Given the description of an element on the screen output the (x, y) to click on. 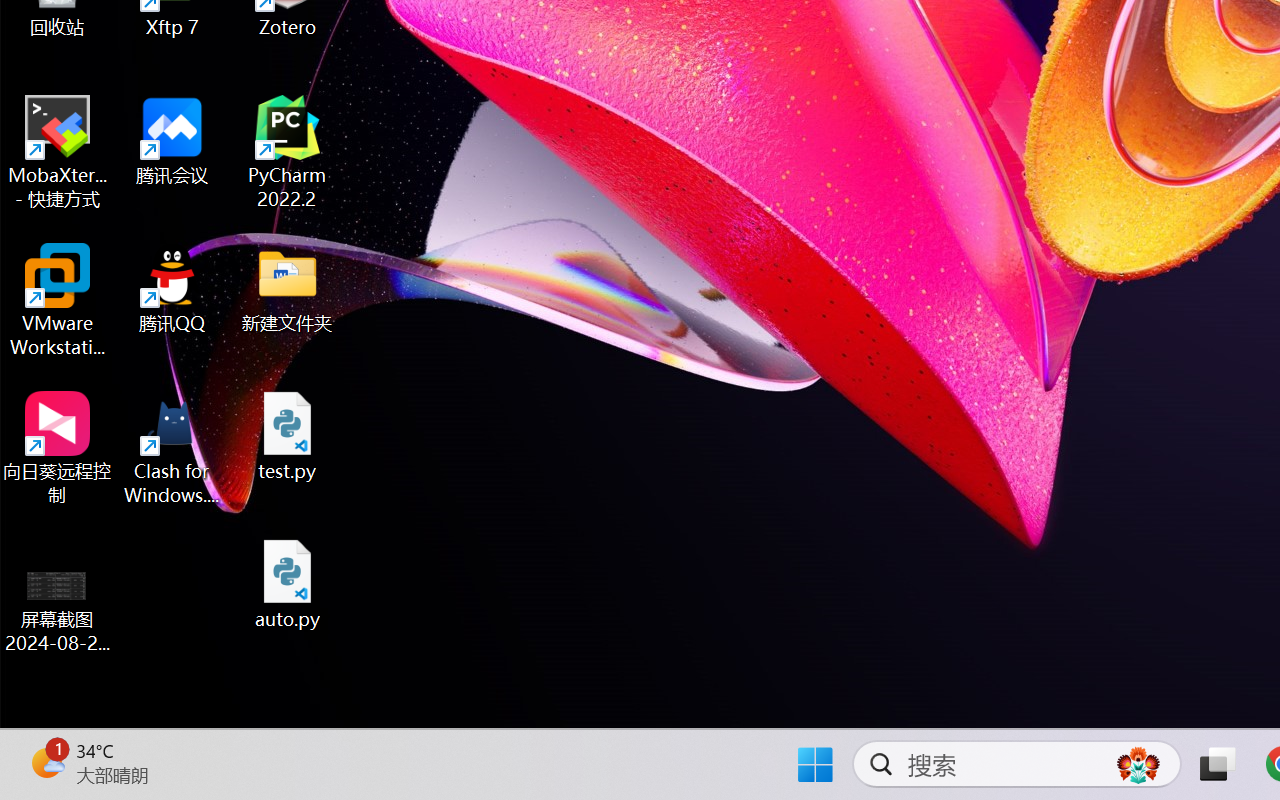
auto.py (287, 584)
VMware Workstation Pro (57, 300)
